Given the description of an element on the screen output the (x, y) to click on. 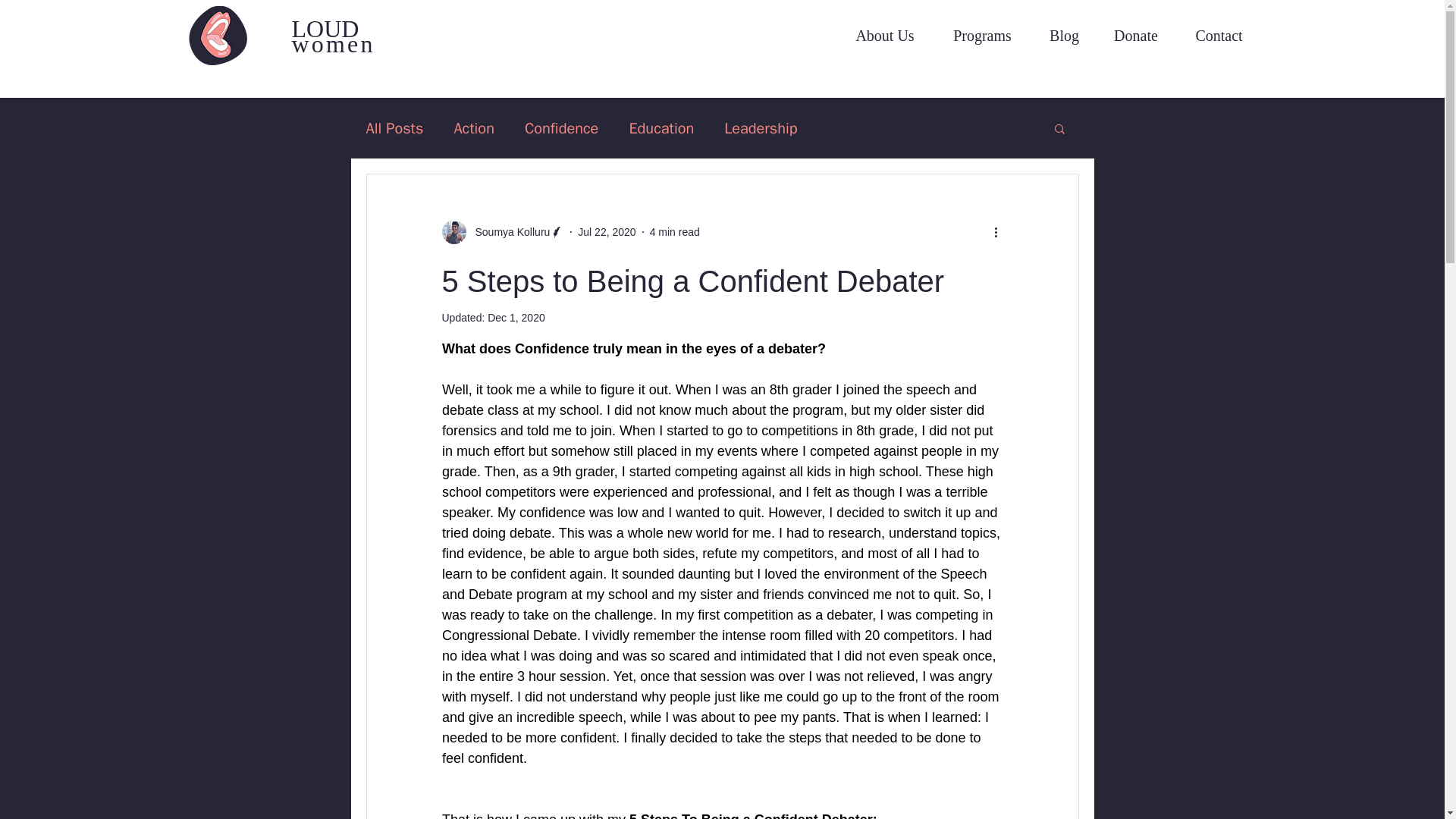
Donate (1136, 35)
Leadership (759, 127)
Programs (982, 35)
Soumya Kolluru (507, 232)
All Posts (394, 127)
Confidence (561, 127)
Action (473, 127)
women (332, 43)
Dec 1, 2020 (515, 317)
Soumya Kolluru (502, 232)
Jul 22, 2020 (606, 232)
LOUD (324, 28)
Education (661, 127)
4 min read (674, 232)
Contact (1218, 35)
